Given the description of an element on the screen output the (x, y) to click on. 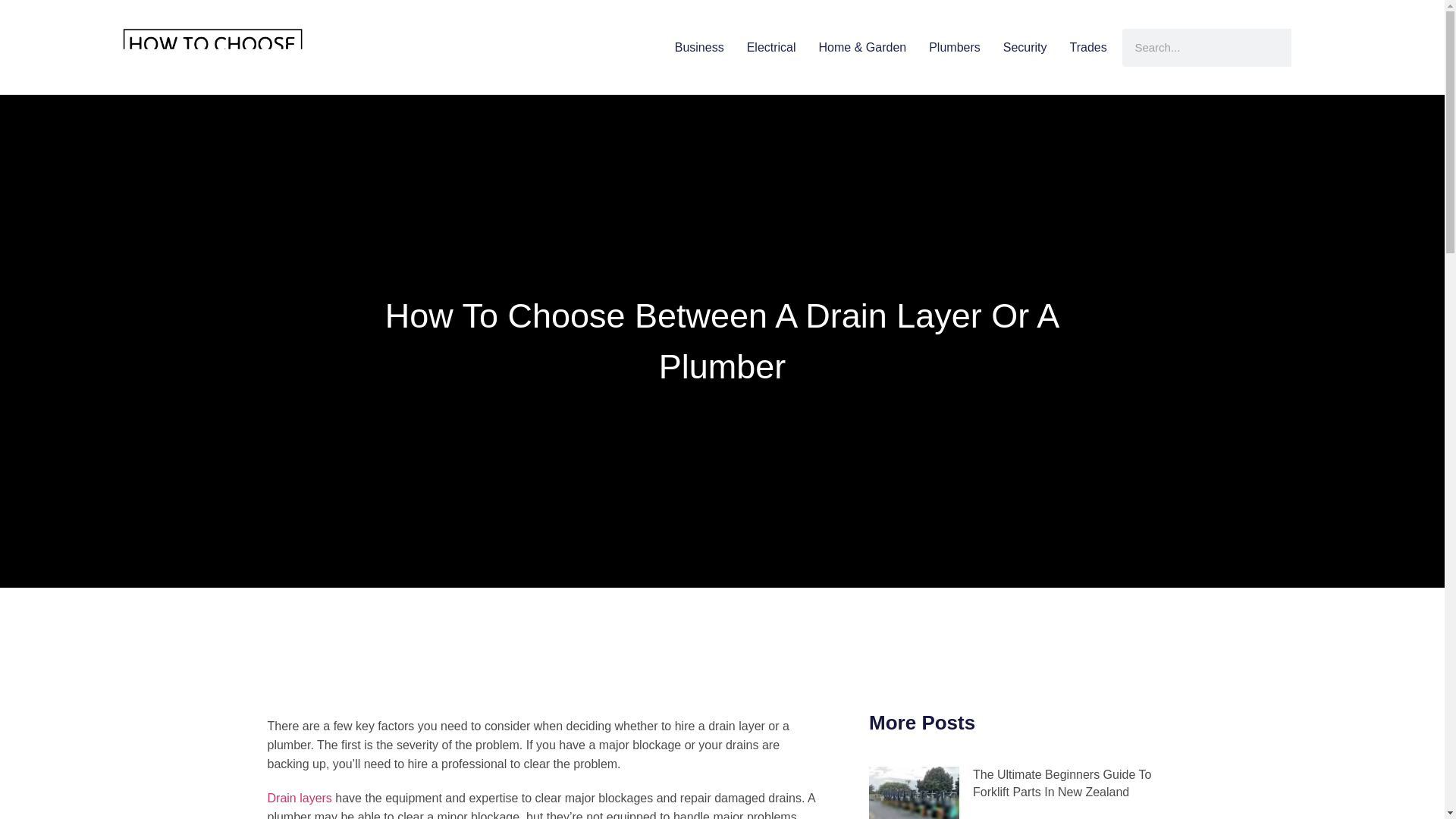
Business (699, 47)
Security (1024, 47)
Plumbers (953, 47)
Electrical (771, 47)
Trades (1088, 47)
Drain layers (298, 797)
